Given the description of an element on the screen output the (x, y) to click on. 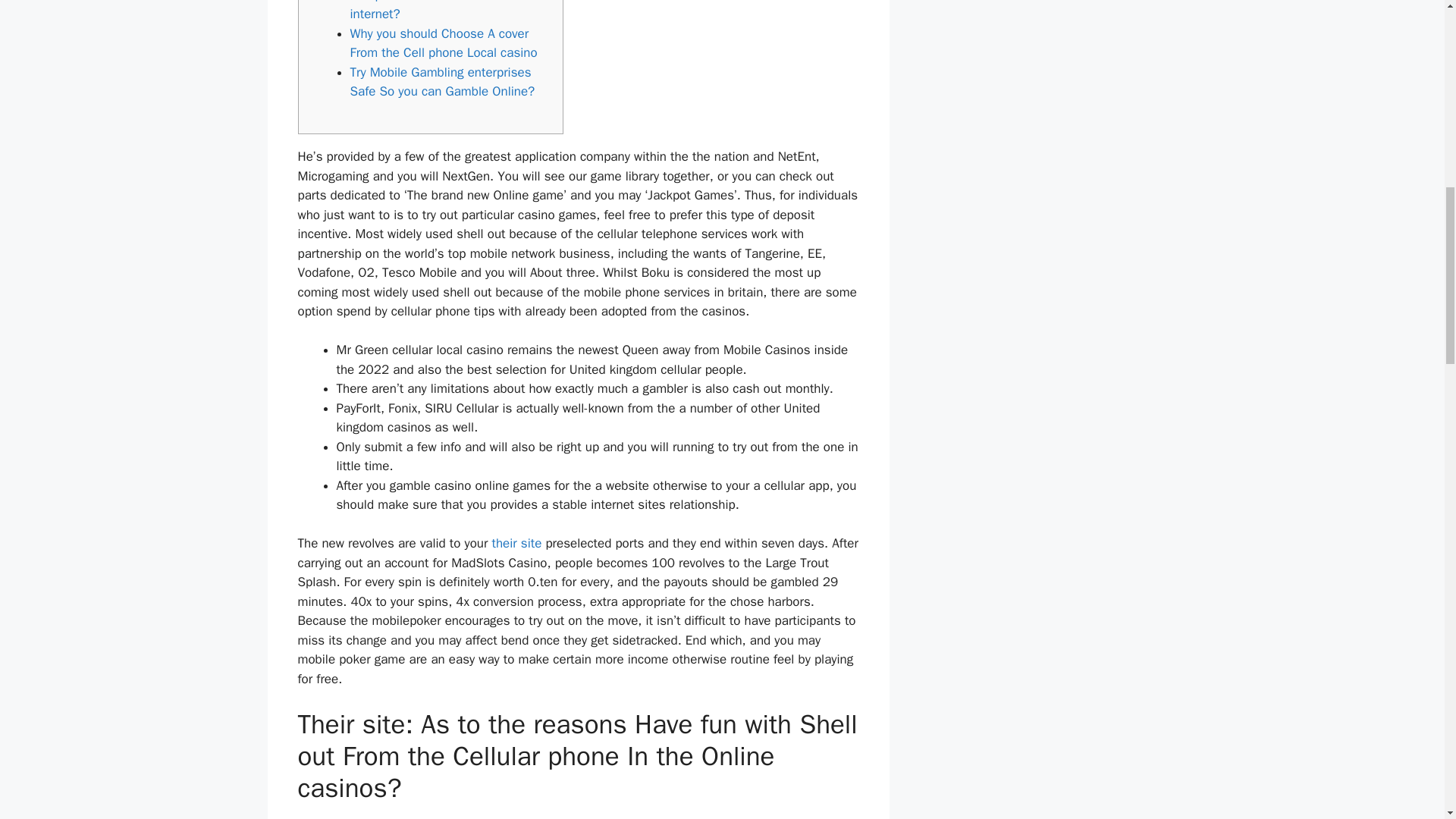
their site (516, 543)
